Given the description of an element on the screen output the (x, y) to click on. 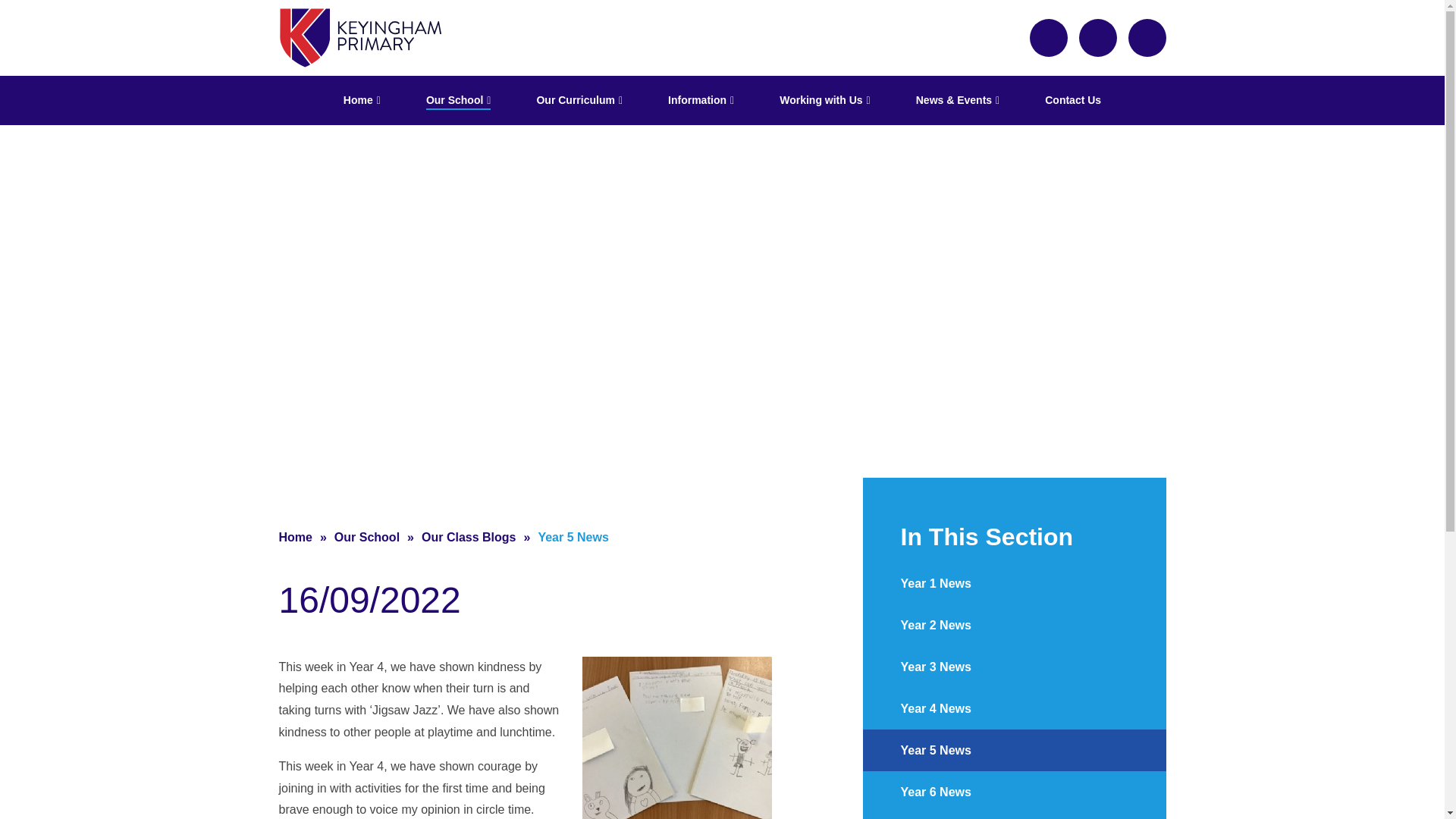
Twitter (1048, 37)
Home (361, 100)
Our School (458, 100)
Instagram (1097, 37)
